Given the description of an element on the screen output the (x, y) to click on. 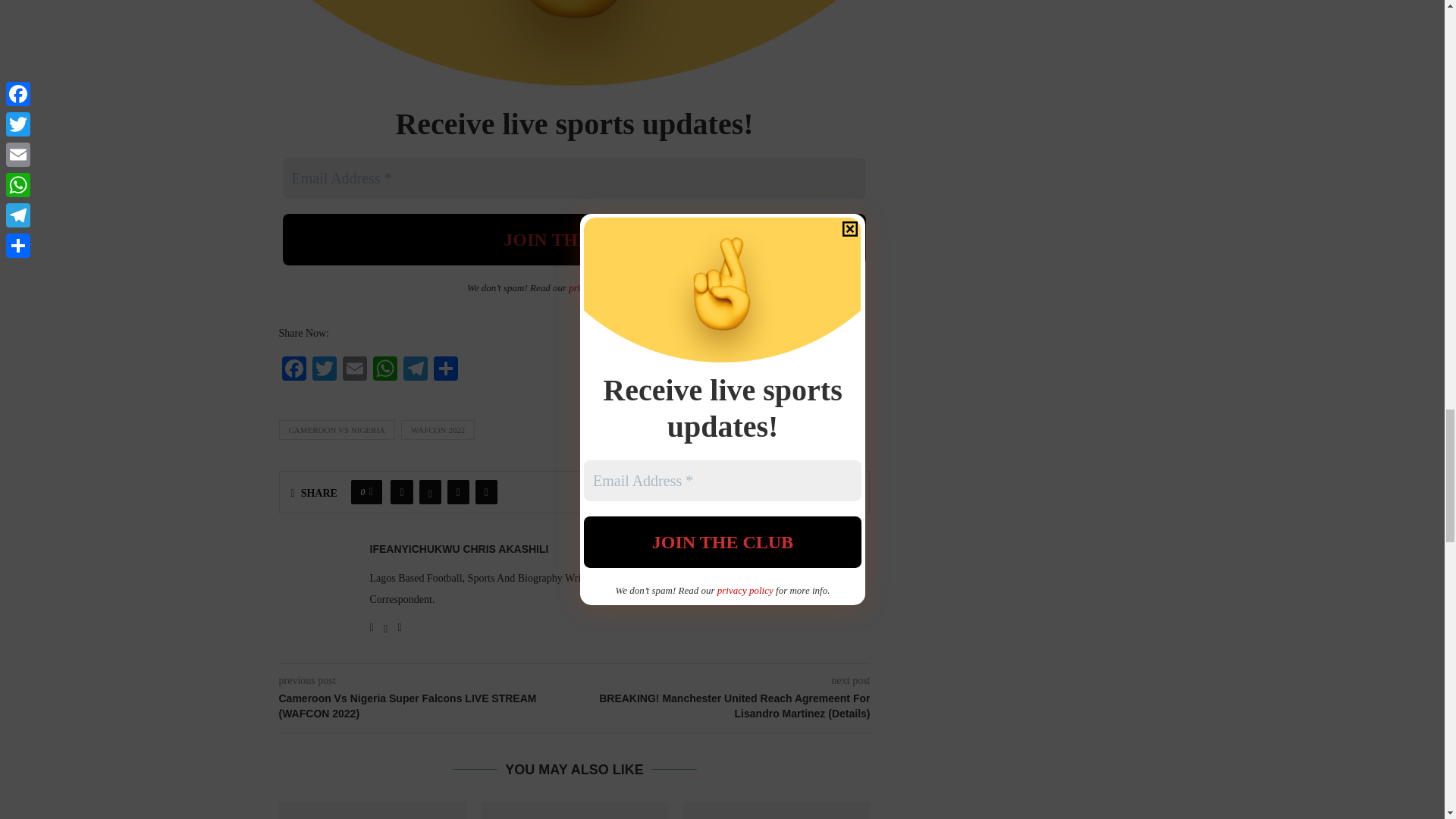
Facebook (293, 370)
JOIN THE CLUB (574, 239)
Twitter (323, 370)
Email (354, 370)
Email Address (574, 178)
Telegram (415, 370)
WhatsApp (384, 370)
